Given the description of an element on the screen output the (x, y) to click on. 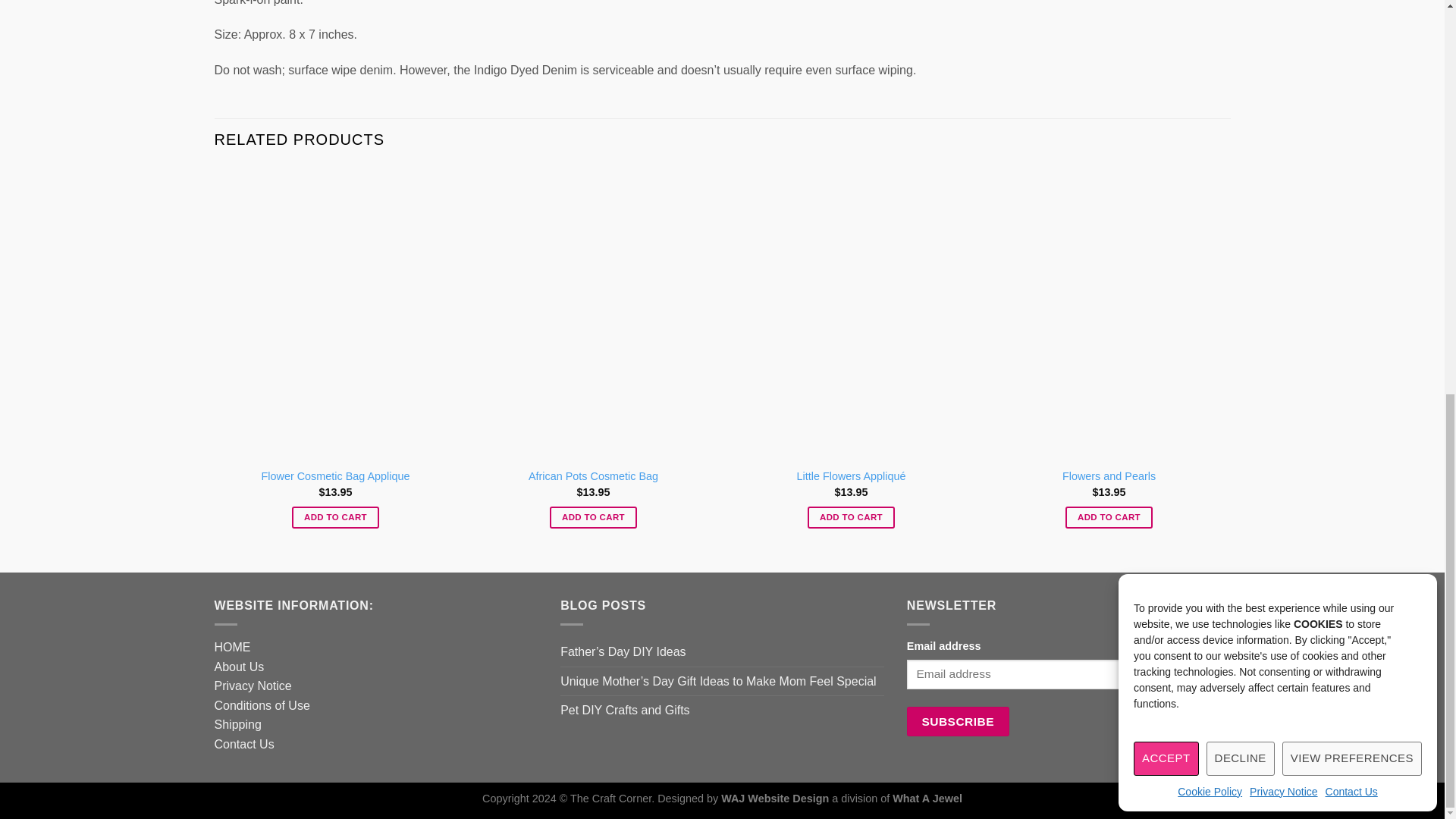
VIEW PREFERENCES (1352, 8)
Contact Us (1350, 33)
Subscribe (958, 721)
ACCEPT (1166, 8)
DECLINE (1241, 8)
Cookie Policy (1209, 33)
Privacy Notice (1283, 33)
